Given the description of an element on the screen output the (x, y) to click on. 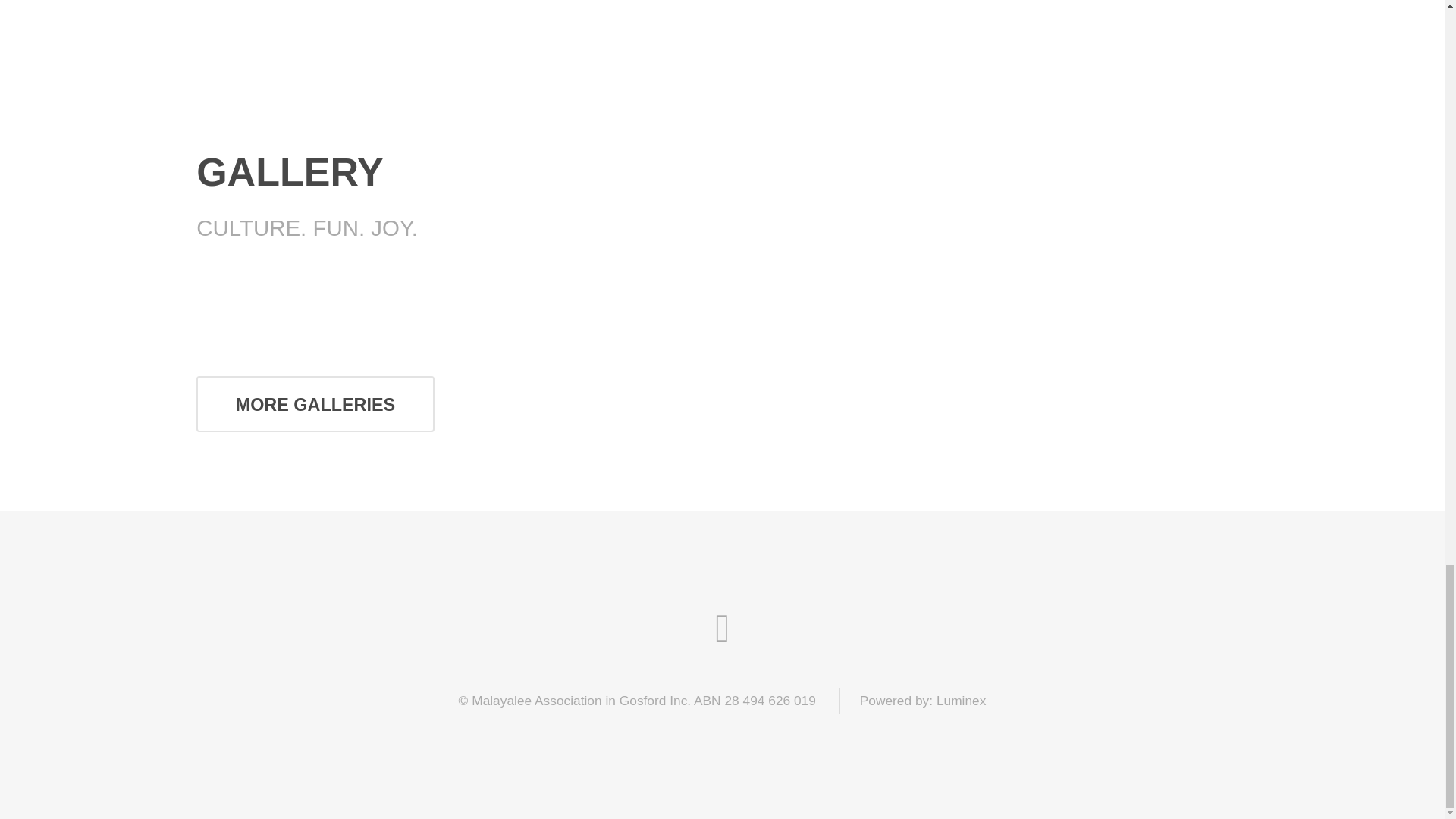
Luminex (961, 700)
MORE GALLERIES (314, 403)
